Given the description of an element on the screen output the (x, y) to click on. 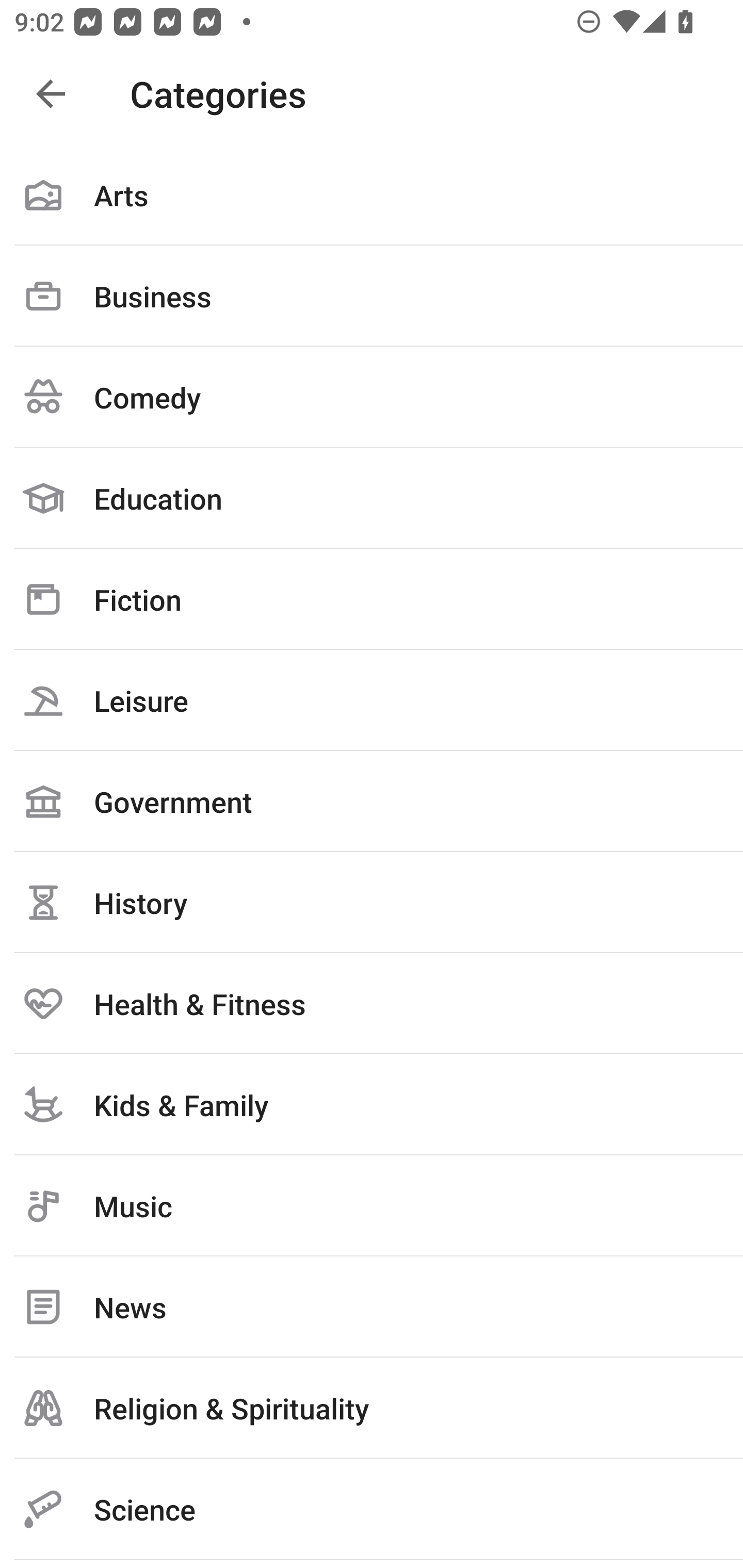
Navigate up (50, 93)
Arts (371, 195)
Business (371, 296)
Comedy (371, 397)
Education (371, 498)
Fiction (371, 598)
Leisure (371, 700)
Government (371, 801)
History (371, 902)
Health & Fitness (371, 1003)
Kids & Family (371, 1104)
Music (371, 1205)
News (371, 1306)
Religion & Spirituality (371, 1407)
Science (371, 1509)
